Given the description of an element on the screen output the (x, y) to click on. 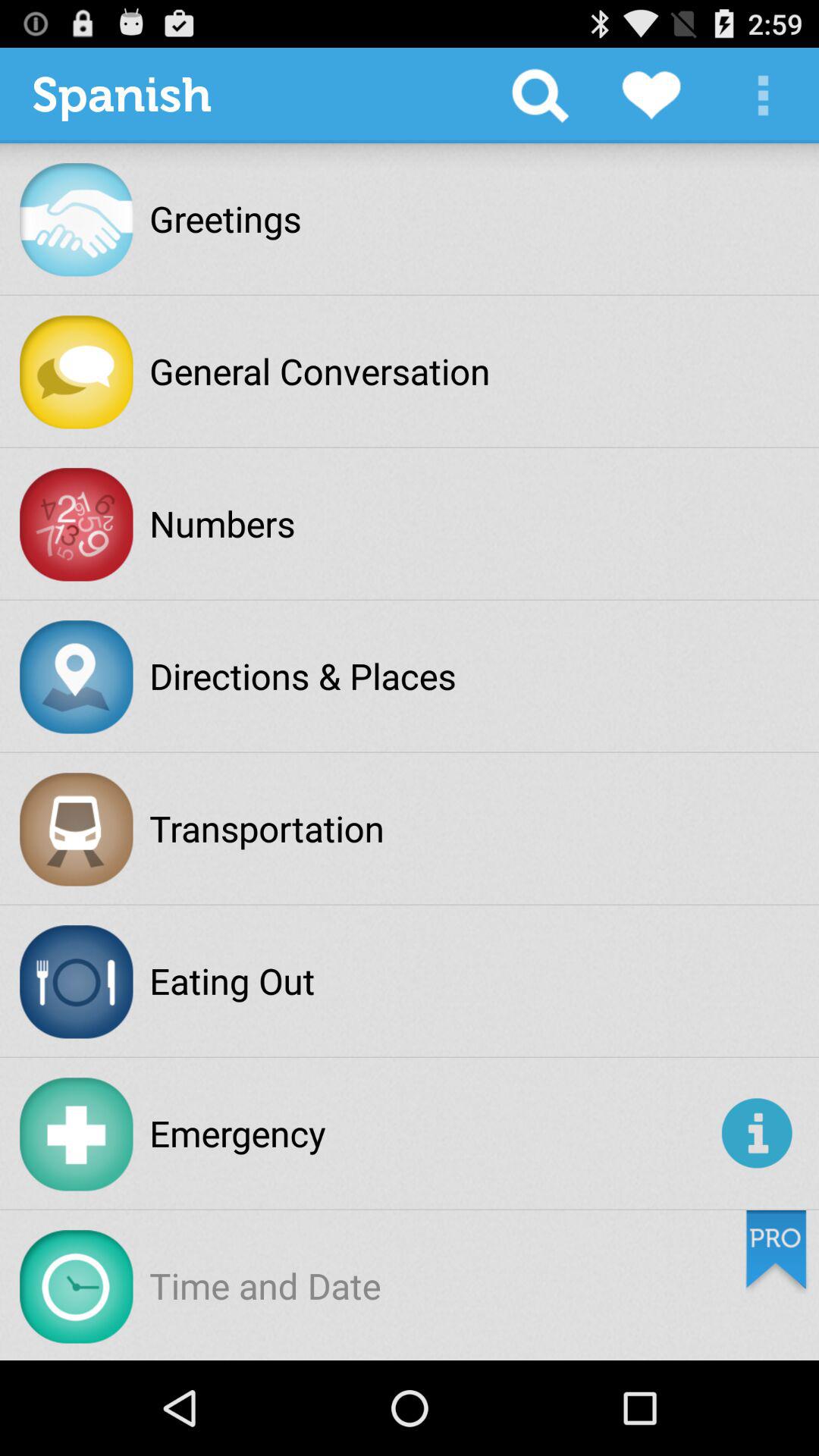
jump until time and date (265, 1285)
